Given the description of an element on the screen output the (x, y) to click on. 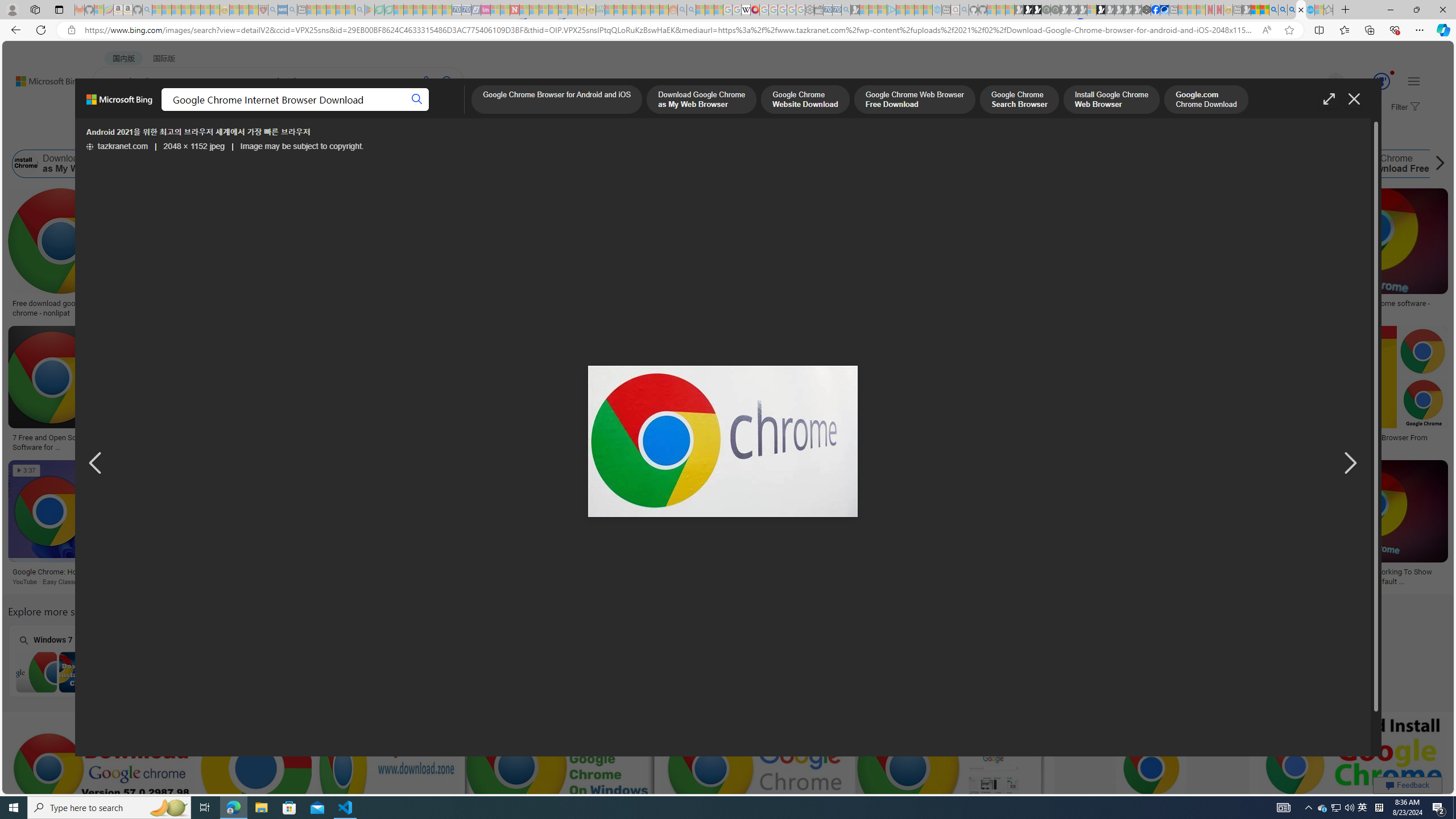
Settings - Sleeping (809, 9)
Target page - Wikipedia (745, 9)
Future Focus Report 2024 - Sleeping (1054, 9)
Personal Profile (12, 9)
Local - MSN - Sleeping (253, 9)
Google web browser download chrome - kizacareers (723, 441)
Download Chrome Browser in Internet Explorer (224, 671)
3:37 (26, 470)
Download internet explorer 9.0 free - snorobot (454, 571)
